Given the description of an element on the screen output the (x, y) to click on. 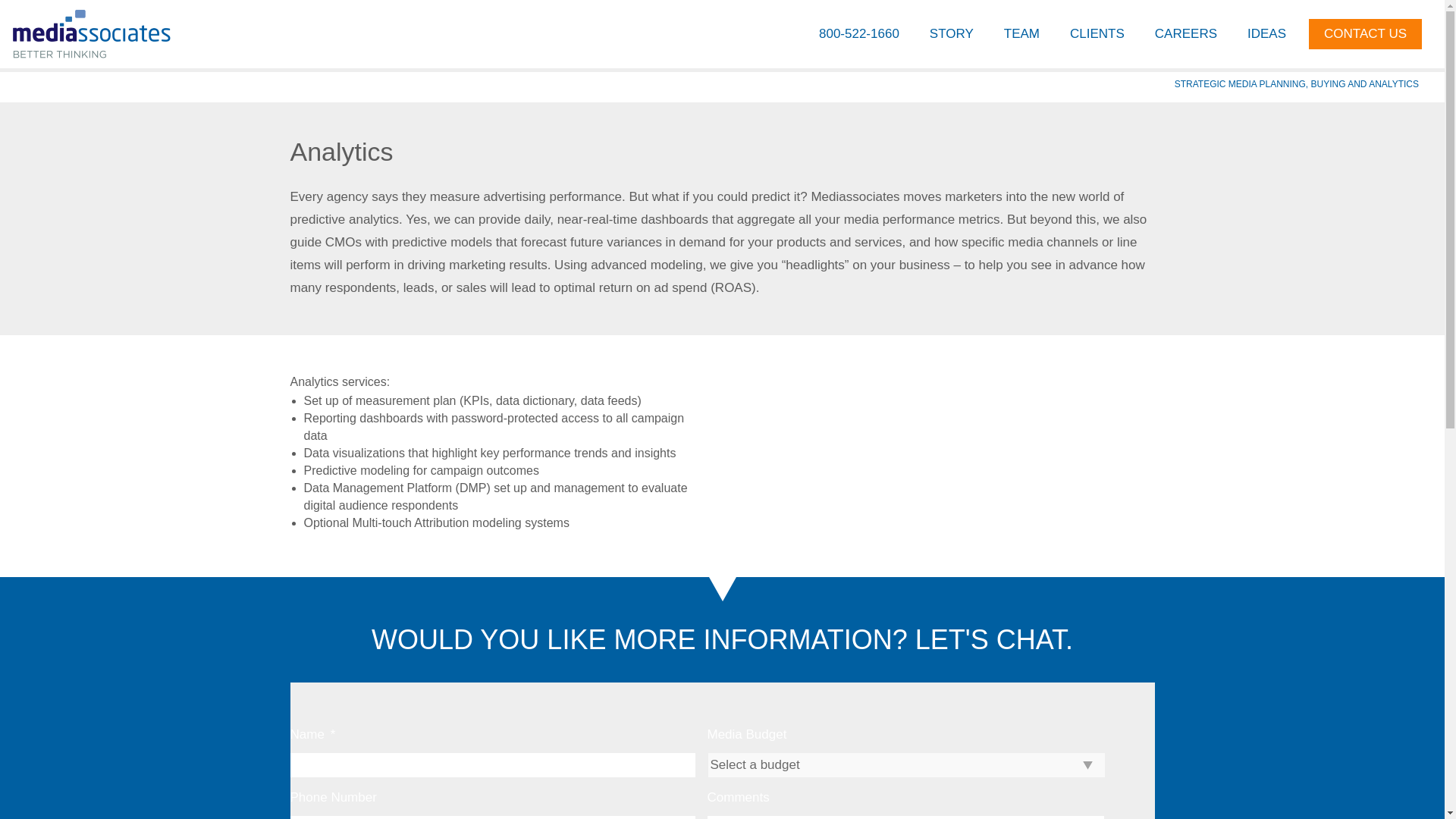
CLIENTS (1097, 33)
CONTACT US (1365, 33)
TEAM (1021, 33)
800-522-1660 (858, 33)
IDEAS (1266, 33)
CAREERS (1185, 33)
STORY (951, 33)
